Given the description of an element on the screen output the (x, y) to click on. 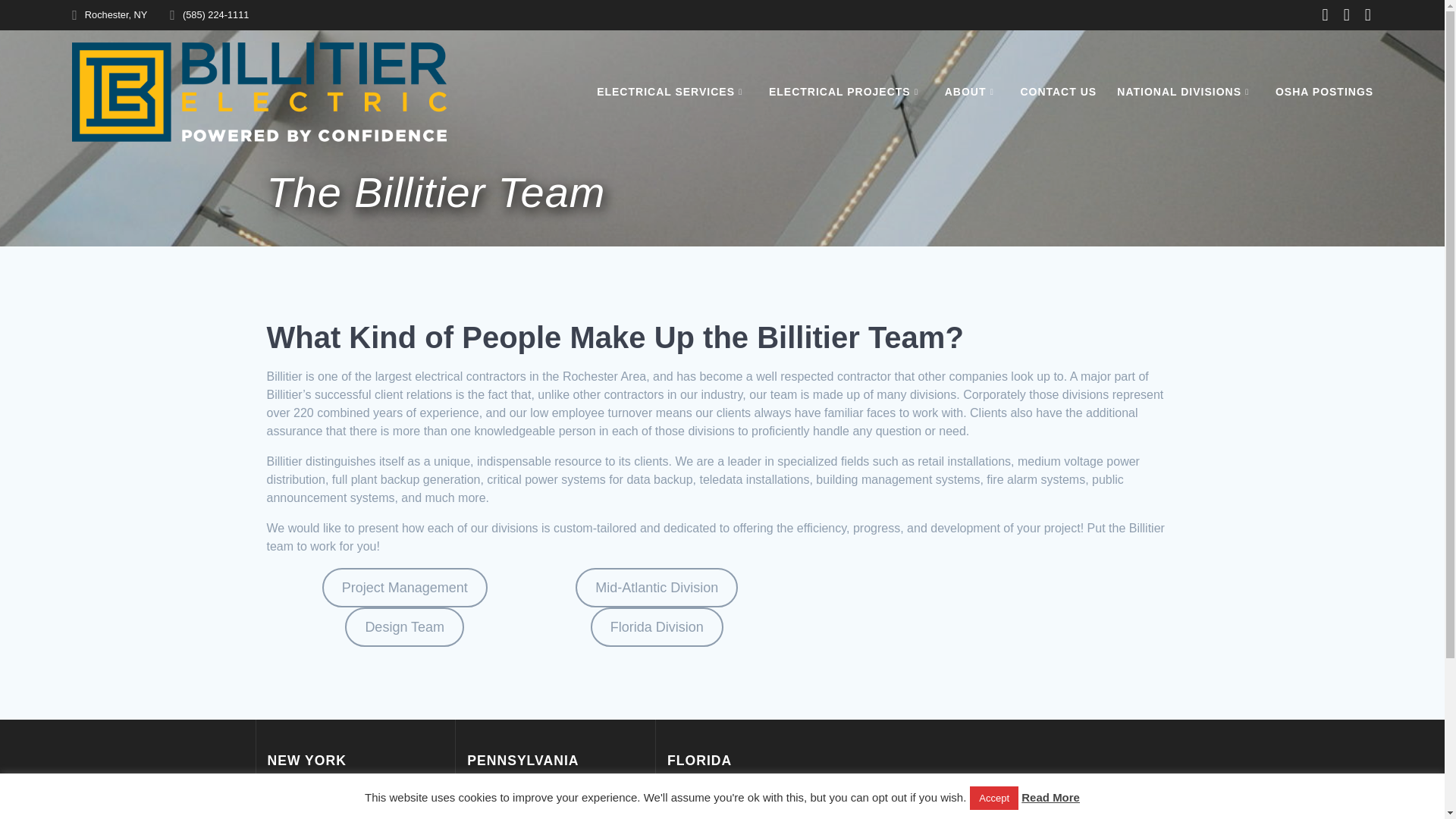
NATIONAL DIVISIONS (1184, 91)
OSHA POSTINGS (1324, 91)
Design Team (404, 627)
Accept (993, 797)
Florida Division (657, 627)
Project Management (404, 587)
ABOUT (972, 91)
Read More (1051, 797)
ELECTRICAL PROJECTS (846, 91)
ELECTRICAL SERVICES (672, 91)
